Given the description of an element on the screen output the (x, y) to click on. 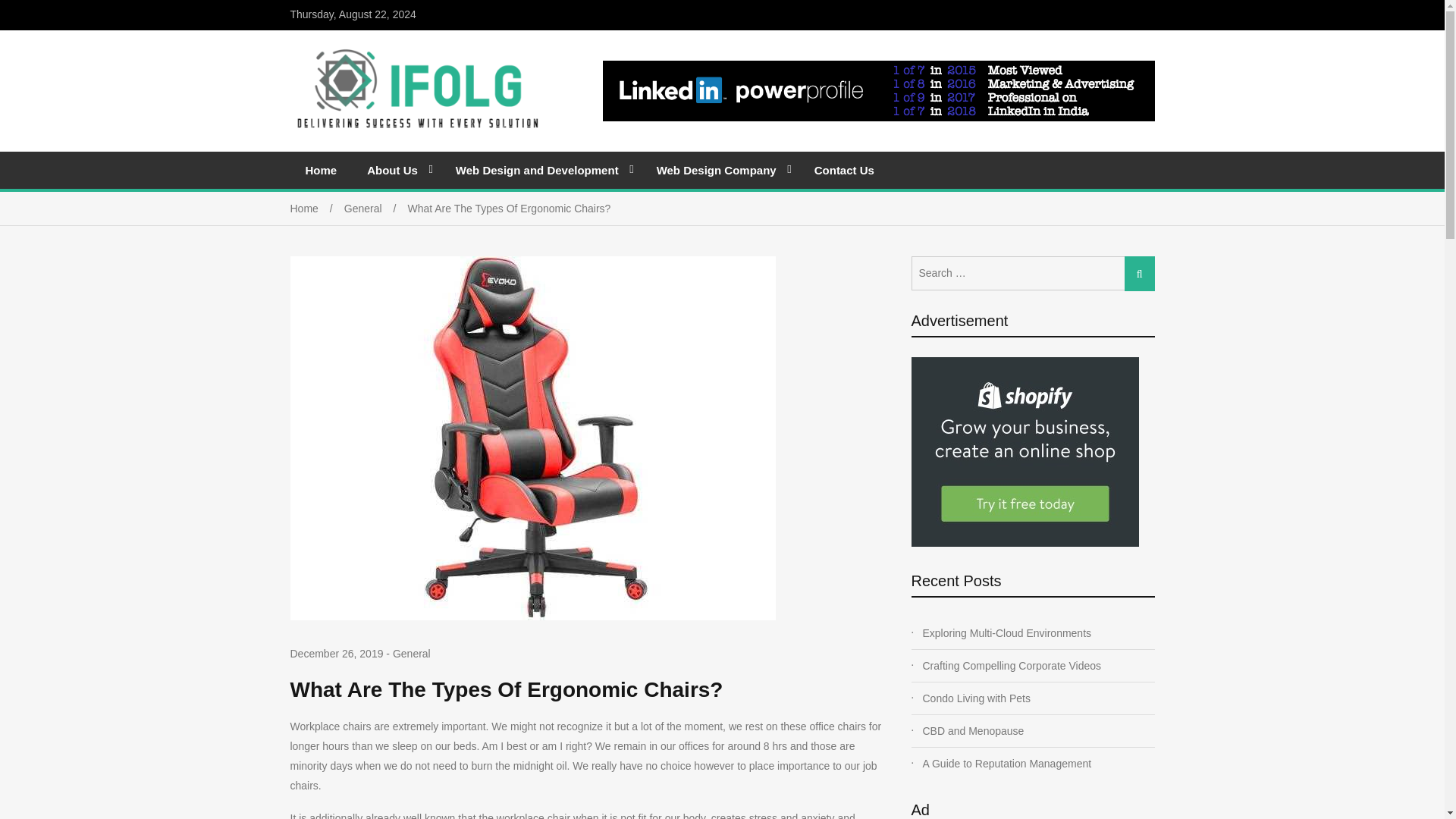
General (375, 208)
Contact Us (844, 170)
Home (320, 170)
General (411, 653)
December 26, 2019 (335, 654)
Web Design Company (720, 170)
Web Design and Development (541, 170)
About Us (396, 170)
Home (316, 208)
